Given the description of an element on the screen output the (x, y) to click on. 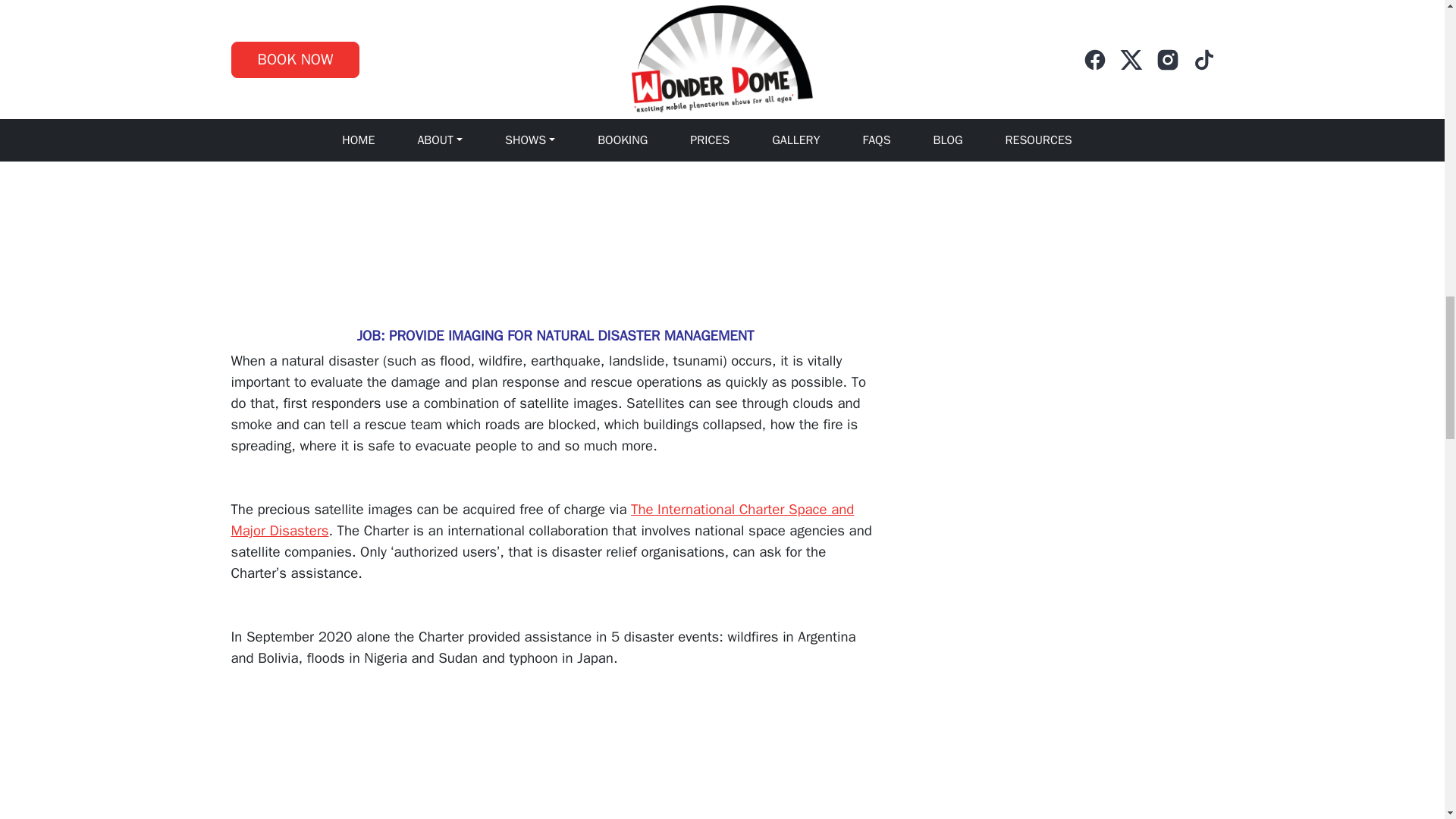
Saving lives when disasters strike (420, 765)
The International Charter Space and Major Disasters (541, 519)
